Given the description of an element on the screen output the (x, y) to click on. 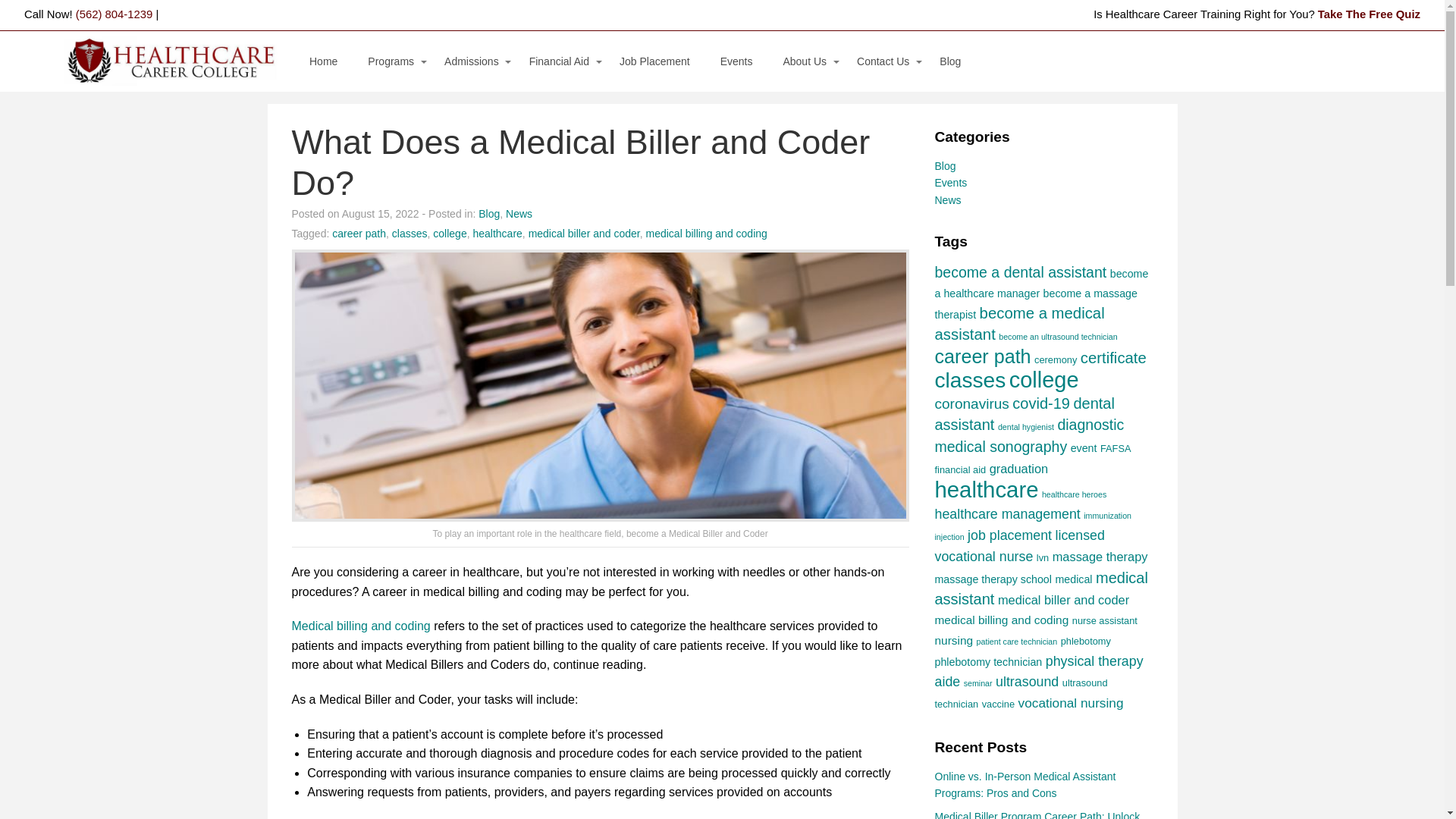
Take The Free Quiz (1369, 14)
Apply Online (460, 106)
Book an Information Session (871, 137)
Admissions (471, 61)
Home (322, 61)
Call this number (113, 14)
Contact Us (882, 61)
Healthcare Career College Virtual Adviser (1369, 14)
career path (358, 233)
Apply Online (871, 167)
